Given the description of an element on the screen output the (x, y) to click on. 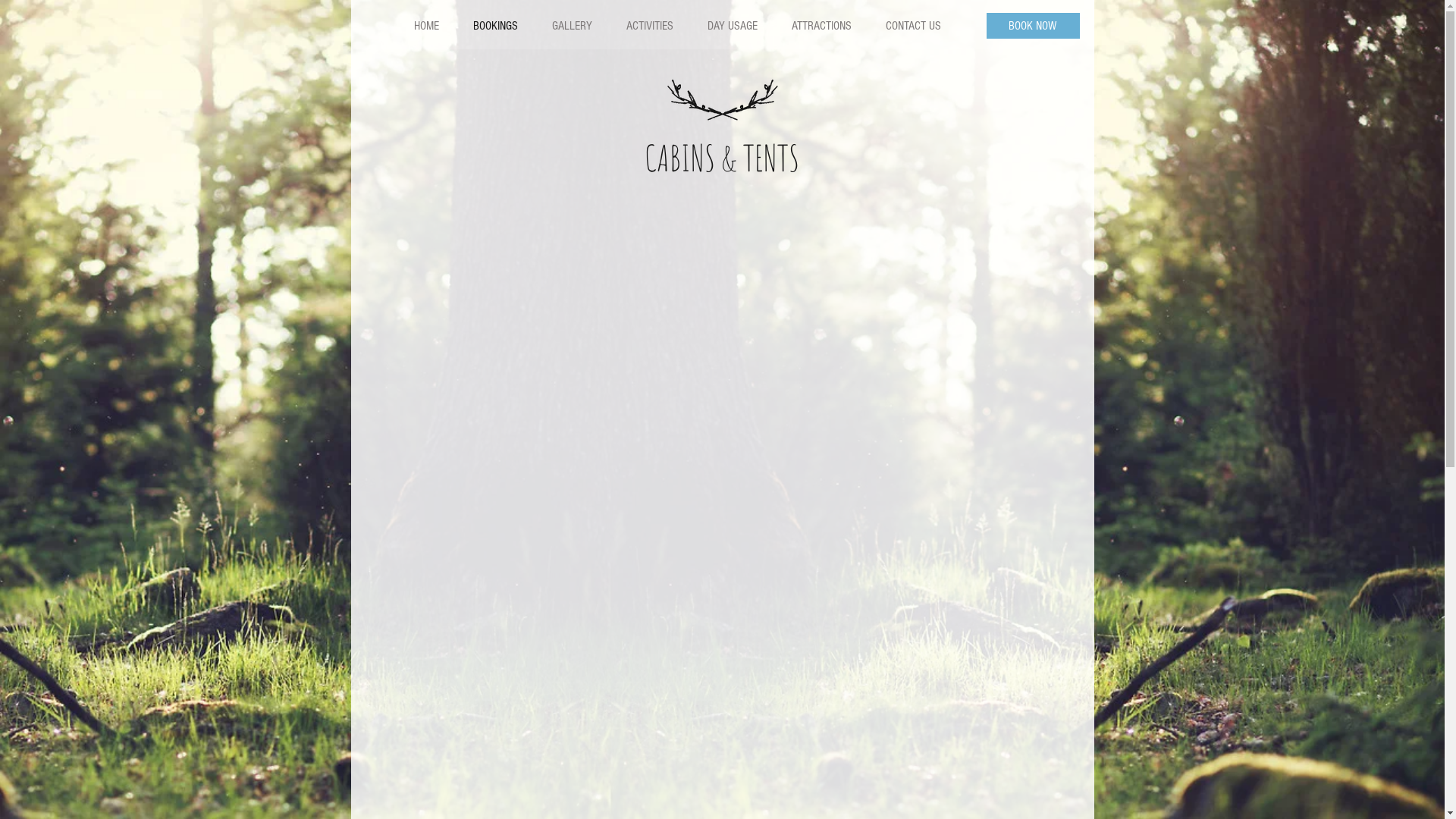
ATTRACTIONS Element type: text (820, 25)
GALLERY Element type: text (570, 25)
DAY USAGE Element type: text (732, 25)
BOOK NOW Element type: text (1032, 25)
CONTACT US Element type: text (912, 25)
BOOKINGS Element type: text (494, 25)
ACTIVITIES Element type: text (648, 25)
HOME Element type: text (426, 25)
